Given the description of an element on the screen output the (x, y) to click on. 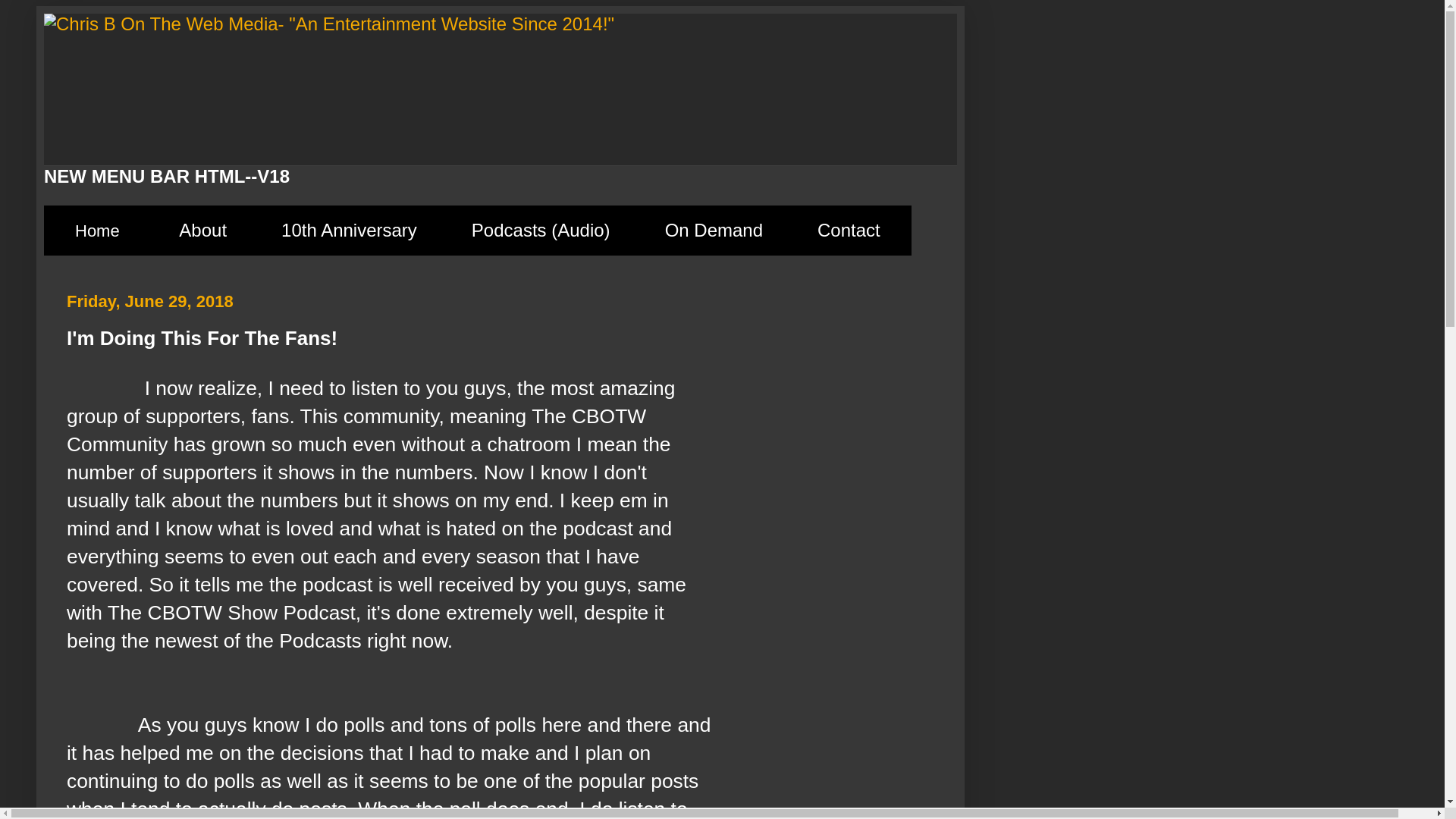
Home (97, 230)
